Given the description of an element on the screen output the (x, y) to click on. 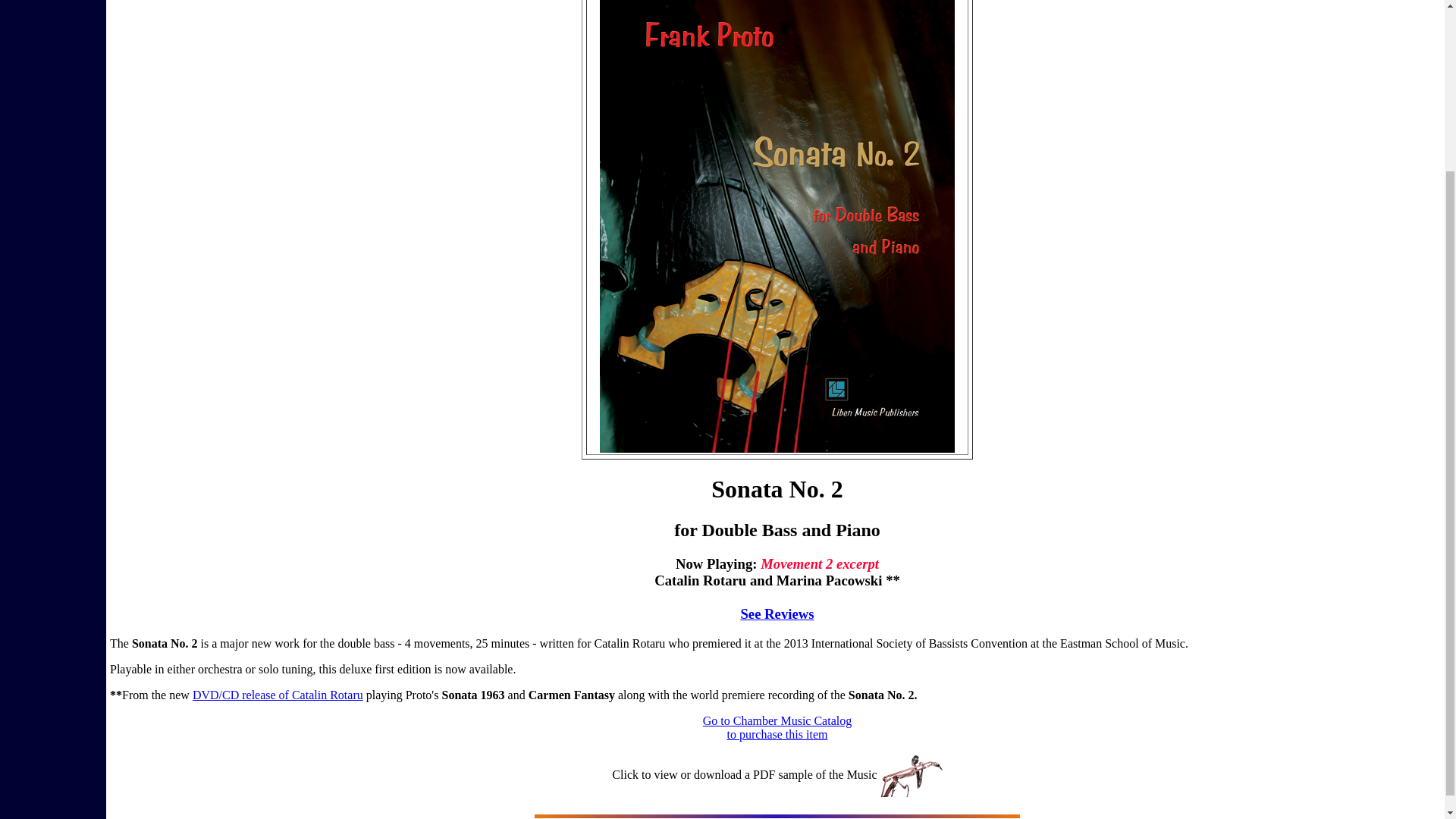
See Reviews (777, 726)
